Given the description of an element on the screen output the (x, y) to click on. 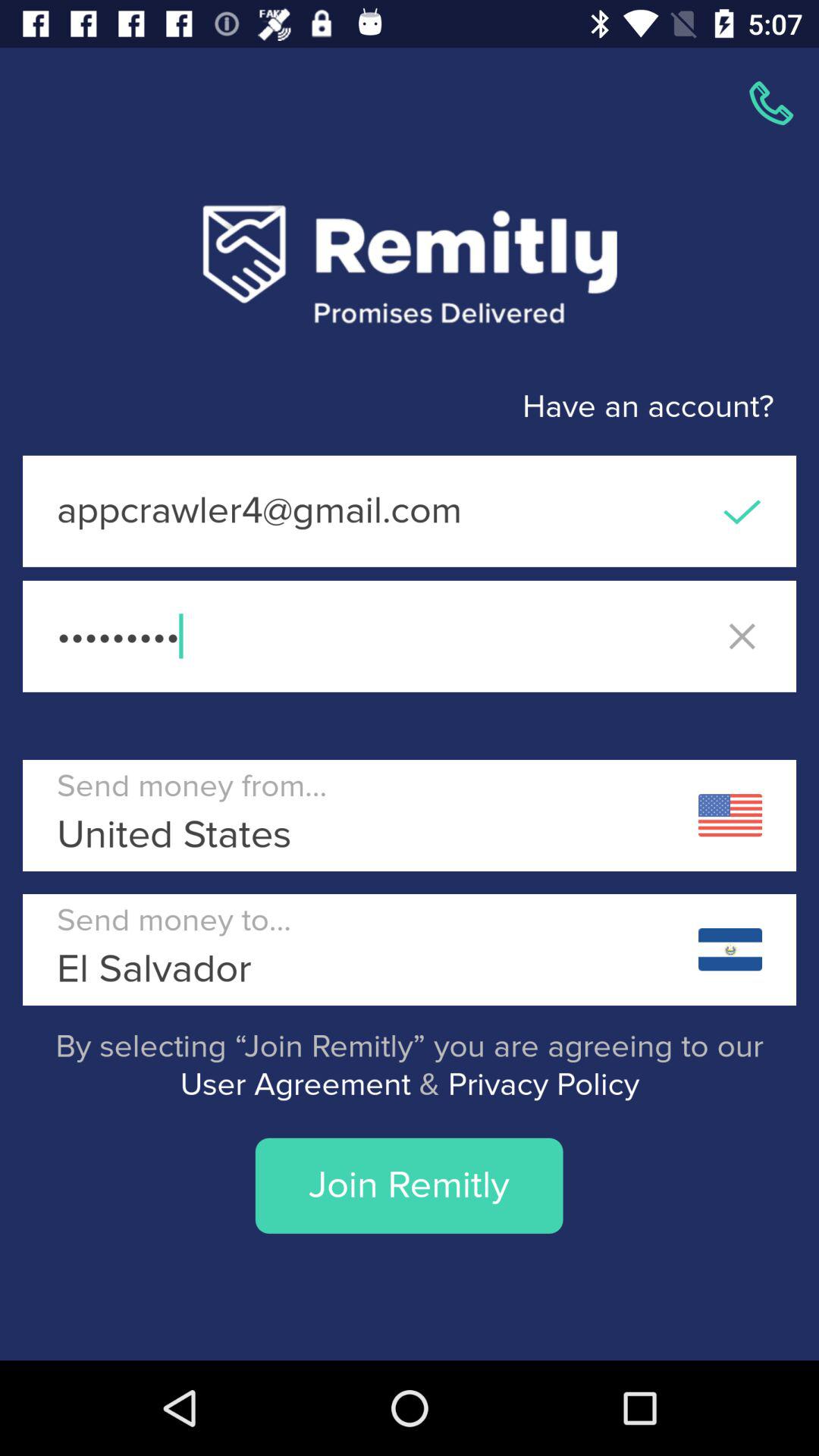
jump to the by selecting join app (409, 1065)
